Given the description of an element on the screen output the (x, y) to click on. 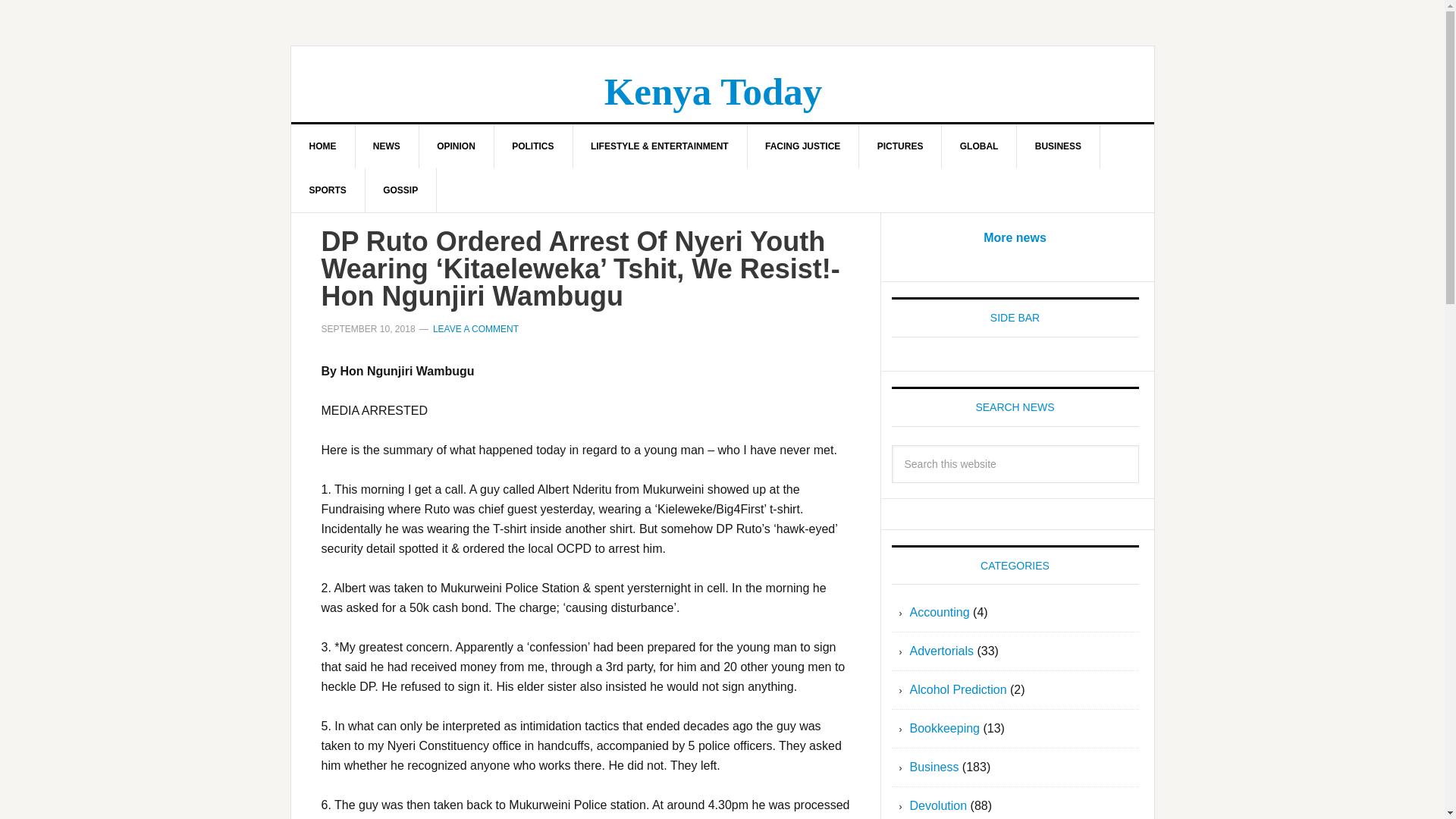
SPORTS (328, 190)
Kenya Today (713, 91)
HOME (323, 146)
NEWS (387, 146)
BUSINESS (1058, 146)
LEAVE A COMMENT (475, 328)
Alcohol Prediction (958, 689)
PICTURES (900, 146)
Advertorials (942, 650)
More news (1015, 237)
Bookkeeping (944, 727)
Accounting (939, 612)
POLITICS (532, 146)
FACING JUSTICE (802, 146)
